Given the description of an element on the screen output the (x, y) to click on. 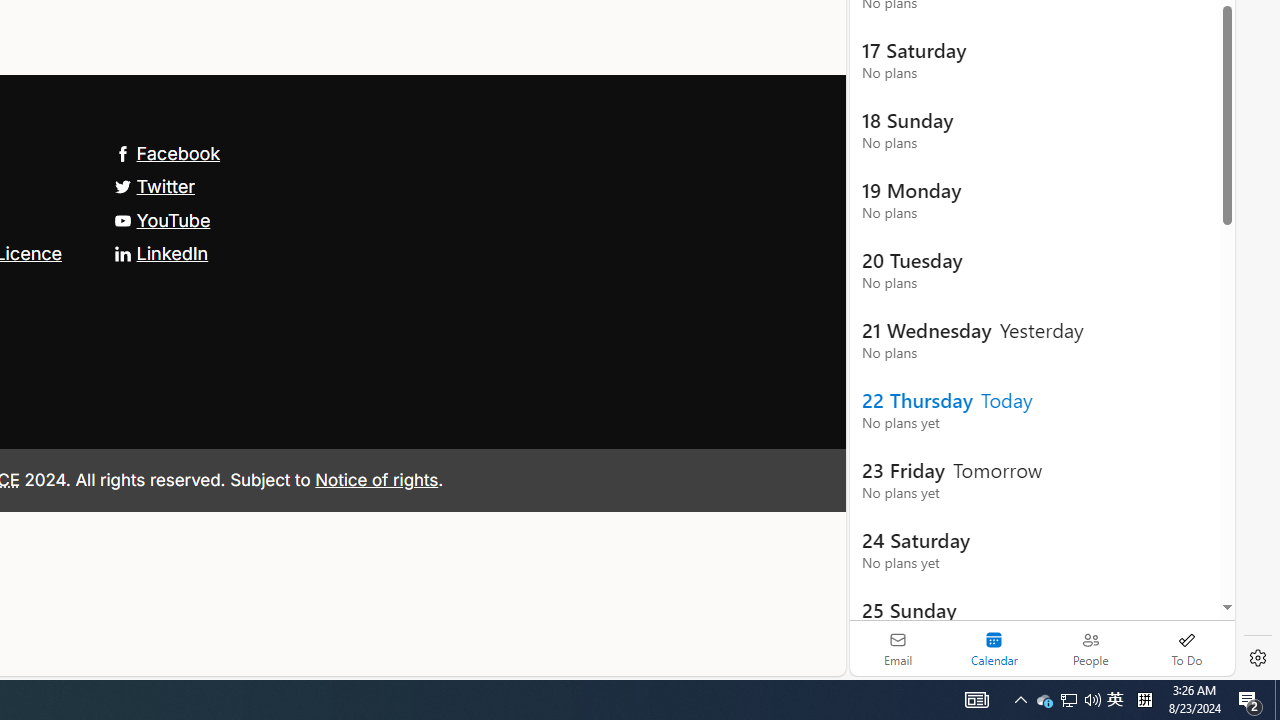
LinkedIn (160, 252)
